Given the description of an element on the screen output the (x, y) to click on. 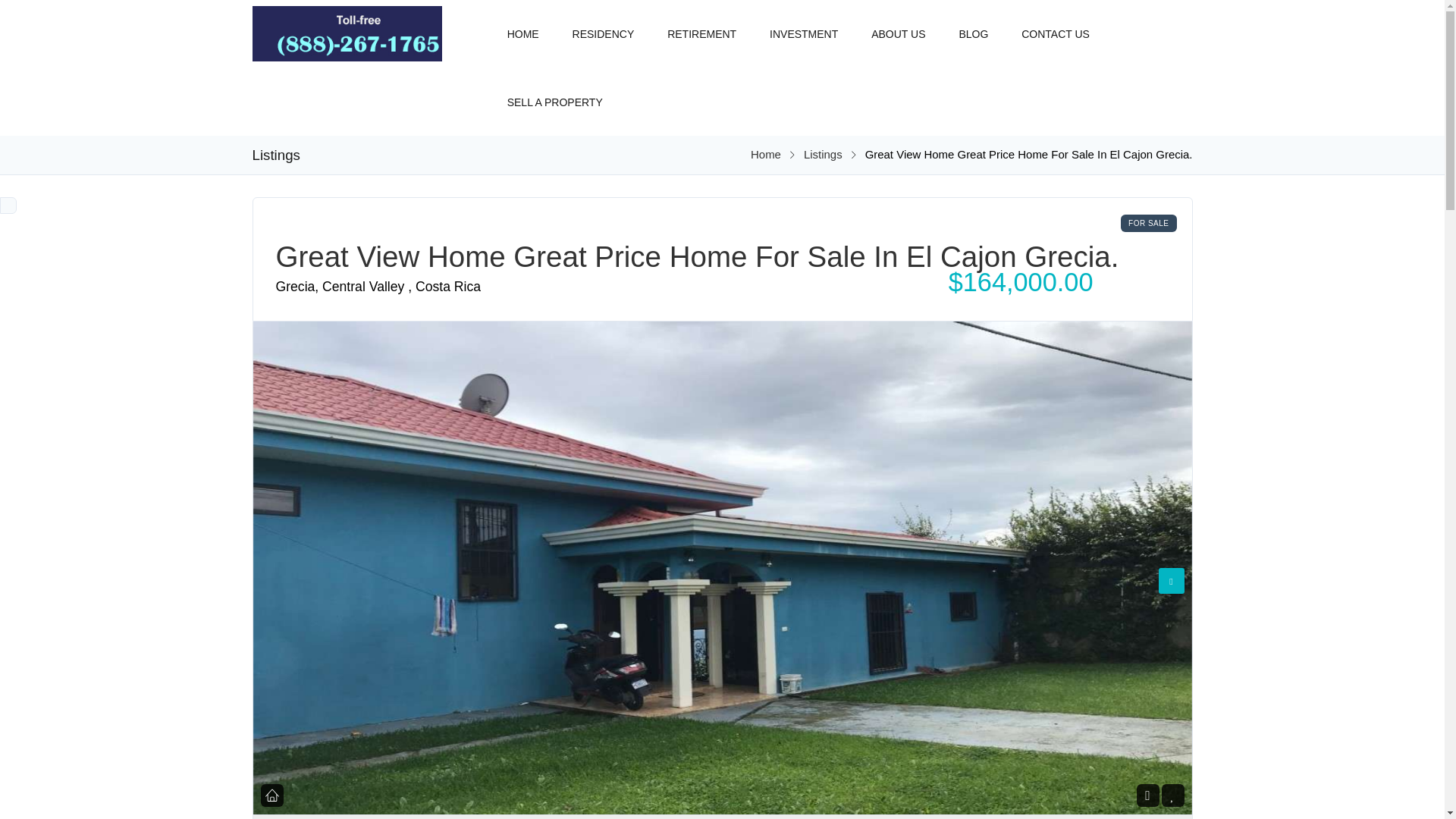
ABOUT US (898, 26)
Costa Rica Retirement Vacation Properties (765, 154)
SELL A PROPERTY (554, 94)
Home (765, 154)
CONTACT US (1055, 26)
HOME (523, 26)
BLOG (973, 26)
RETIREMENT (701, 26)
RESIDENCY (603, 26)
Listings (823, 154)
INVESTMENT (803, 26)
